Given the description of an element on the screen output the (x, y) to click on. 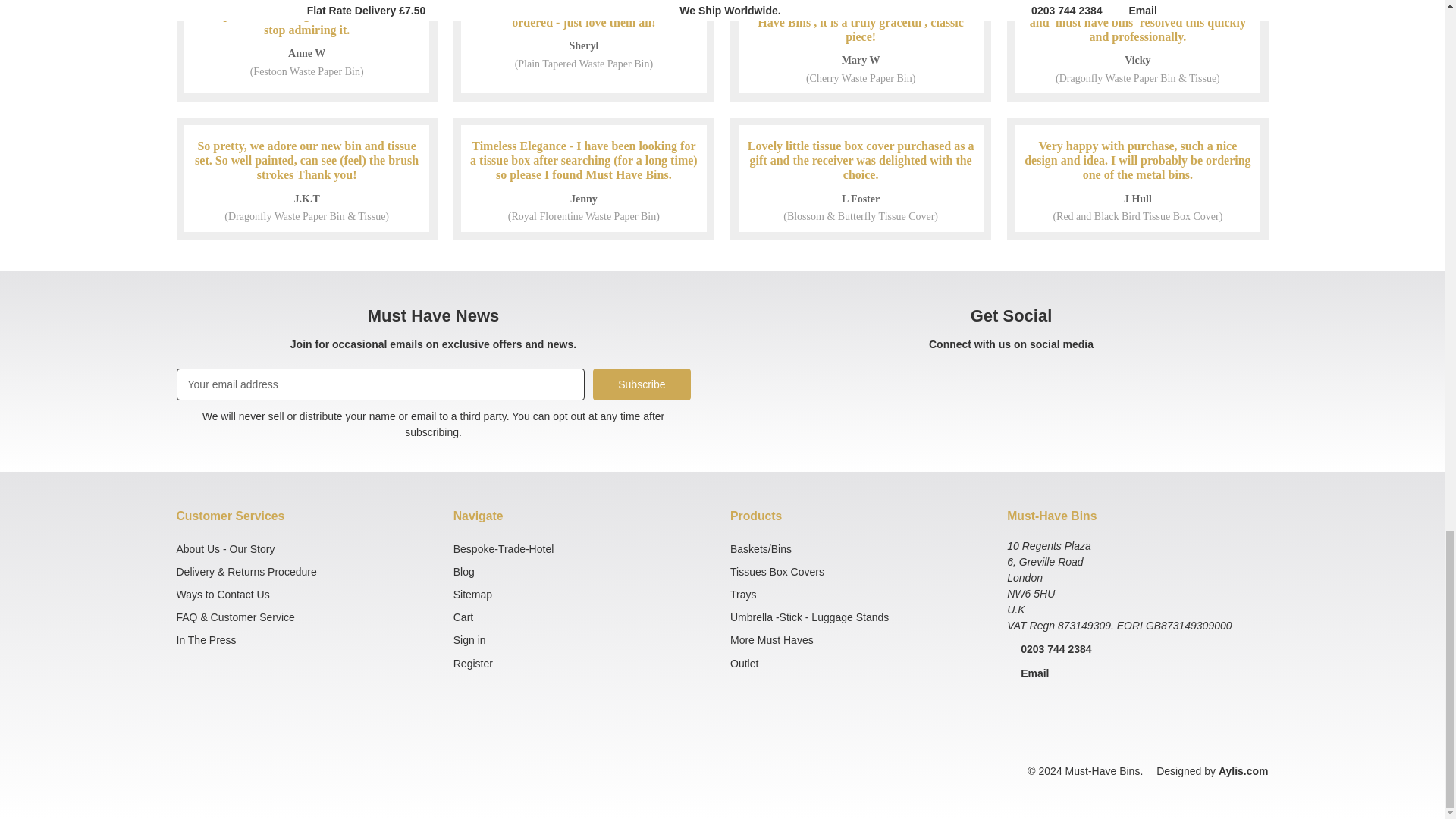
Subscribe (641, 384)
